Given the description of an element on the screen output the (x, y) to click on. 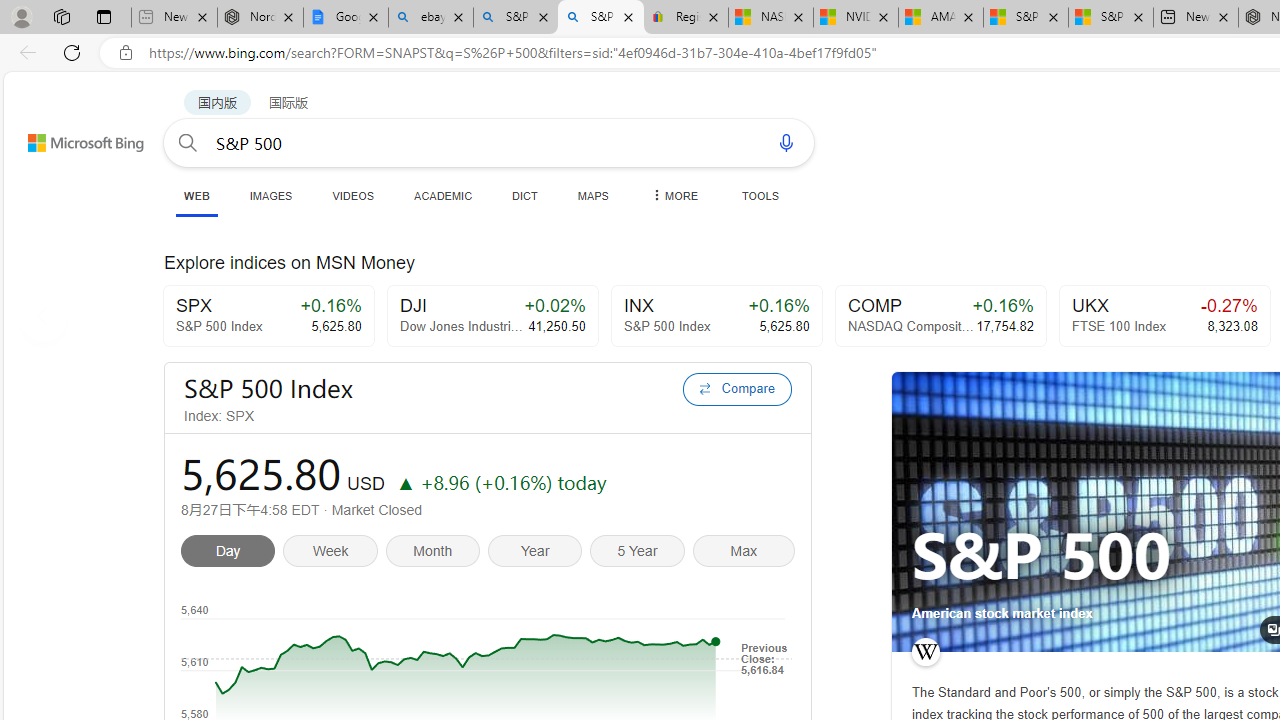
Google Docs: Online Document Editor | Google Workspace (345, 17)
WEB (196, 195)
IMAGES (270, 195)
Day (232, 553)
Compare (737, 387)
MAPS (592, 195)
IMAGES (270, 195)
ACADEMIC (443, 195)
SPX +0.16% S&P 500 Index 5,625.80 (268, 315)
DICT (525, 195)
Register: Create a personal eBay account (685, 17)
